Given the description of an element on the screen output the (x, y) to click on. 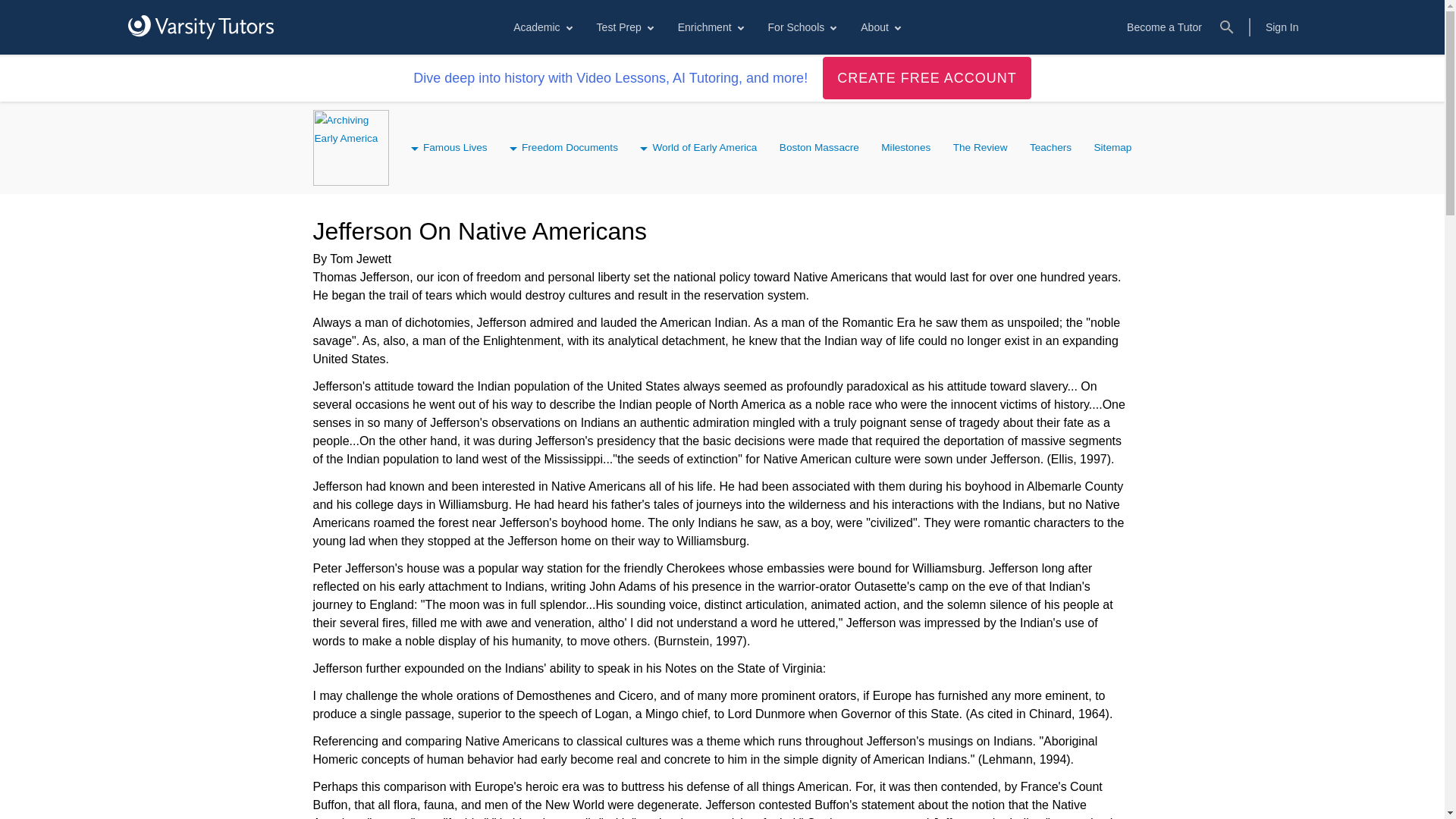
Academic (541, 27)
Varsity Tutors (200, 27)
Varsity Tutors (200, 26)
